Given the description of an element on the screen output the (x, y) to click on. 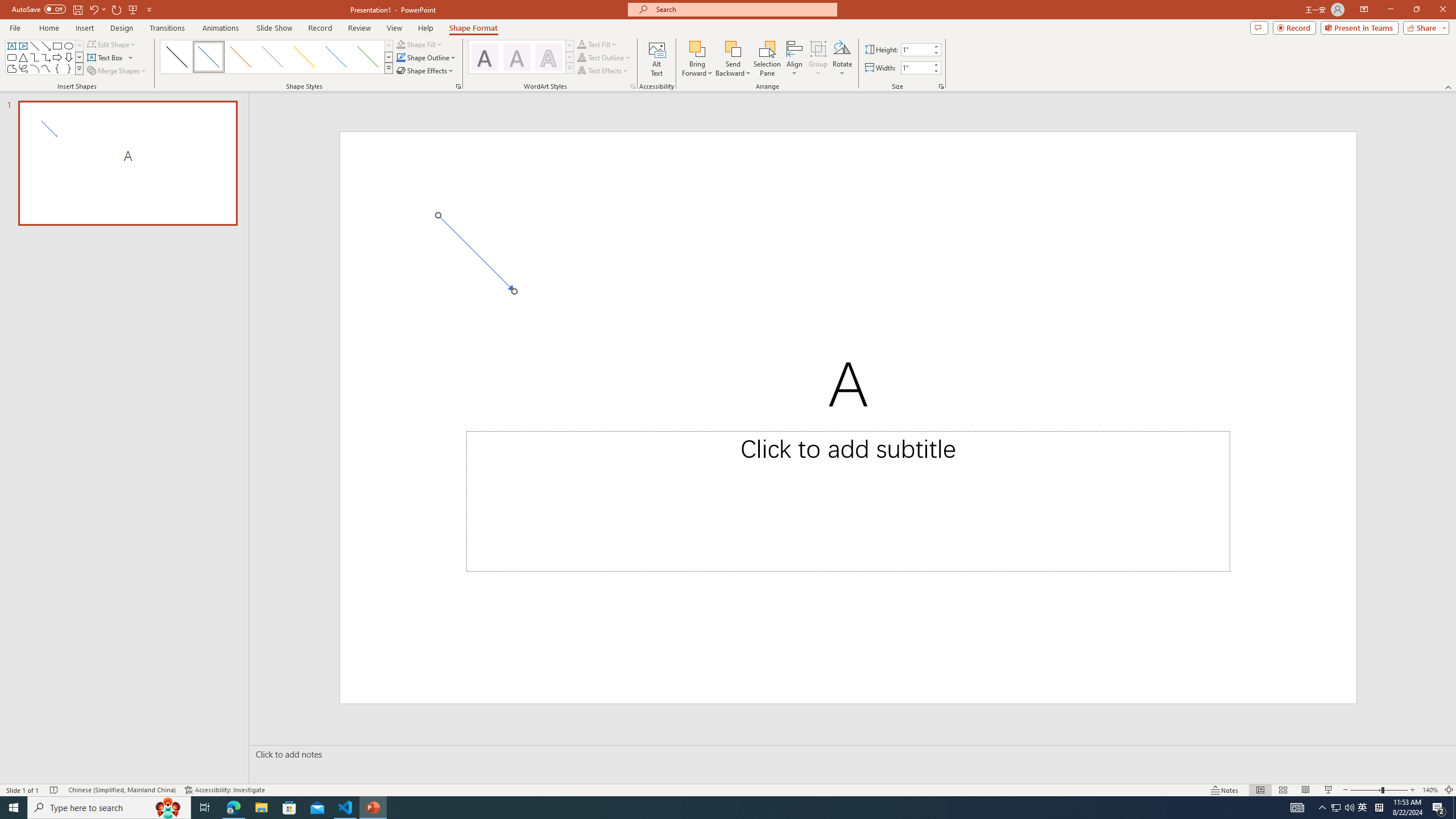
Zoom 140% (1430, 790)
Rotate (841, 58)
Fill: Black, Text color 1; Shadow (484, 56)
